Given the description of an element on the screen output the (x, y) to click on. 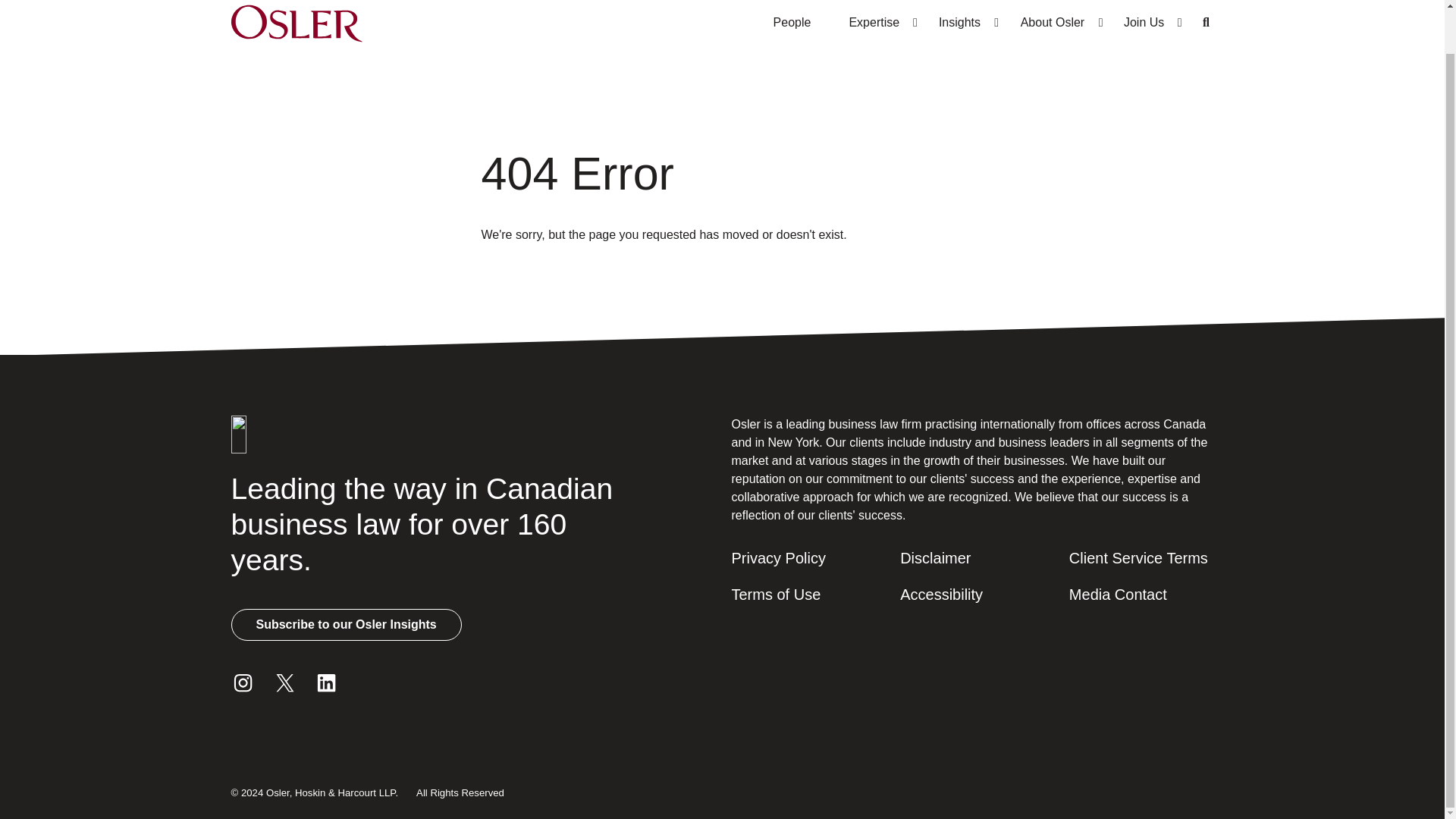
Insights (959, 27)
About Osler (1051, 27)
Expertise (874, 27)
Osler Logo (295, 27)
